Given the description of an element on the screen output the (x, y) to click on. 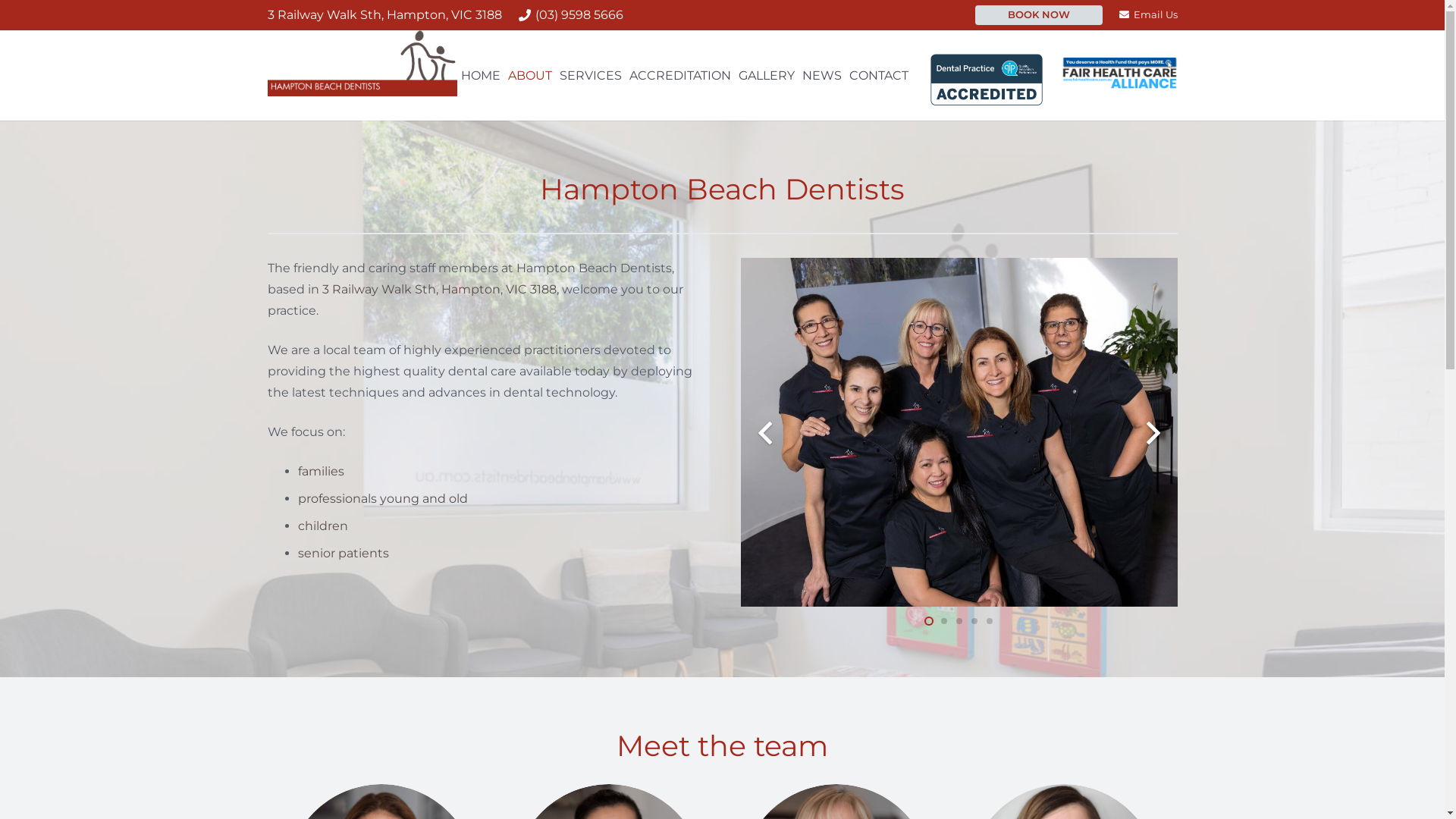
ACCREDITATION Element type: text (679, 75)
senior patients Element type: text (342, 553)
GALLERY Element type: text (766, 75)
BOOK NOW Element type: text (1038, 15)
professionals young and old Element type: text (382, 498)
CONTACT Element type: text (878, 75)
3 Railway Walk Sth, Hampton, VIC 3188 Element type: text (438, 289)
children Element type: text (322, 525)
HOME Element type: text (480, 75)
NEWS Element type: text (821, 75)
Email Us Element type: text (1147, 14)
(03) 9598 5666 Element type: text (570, 14)
families Element type: text (320, 471)
ABOUT Element type: text (529, 75)
SERVICES Element type: text (590, 75)
